Given the description of an element on the screen output the (x, y) to click on. 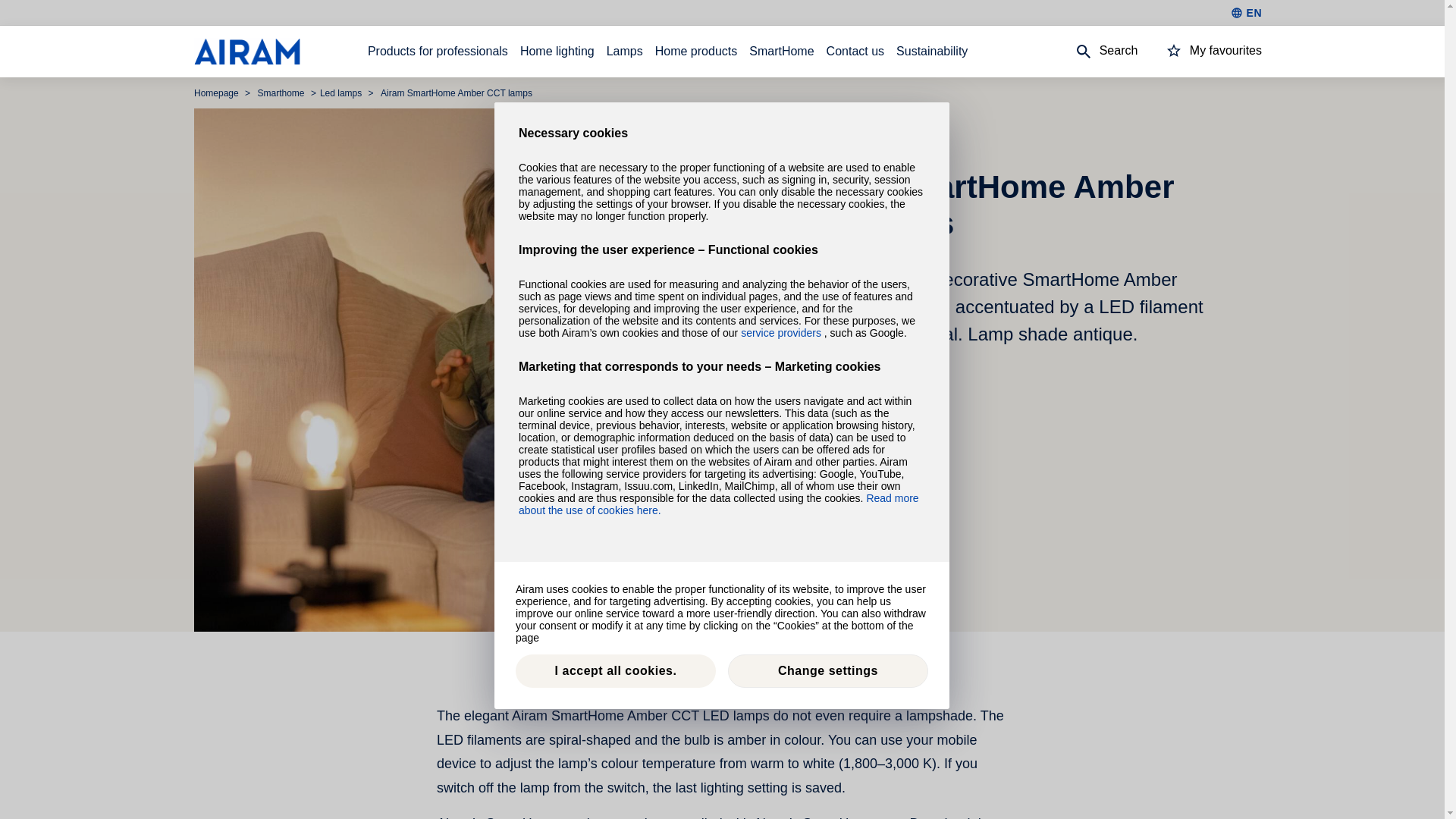
Smarthome (282, 92)
My favourites (1199, 50)
Search (1091, 51)
Sustainability (932, 51)
EN (1246, 12)
Contact us (855, 51)
Home products (696, 51)
SmartHome (781, 51)
Products for professionals (438, 51)
My favourites (1199, 51)
